Given the description of an element on the screen output the (x, y) to click on. 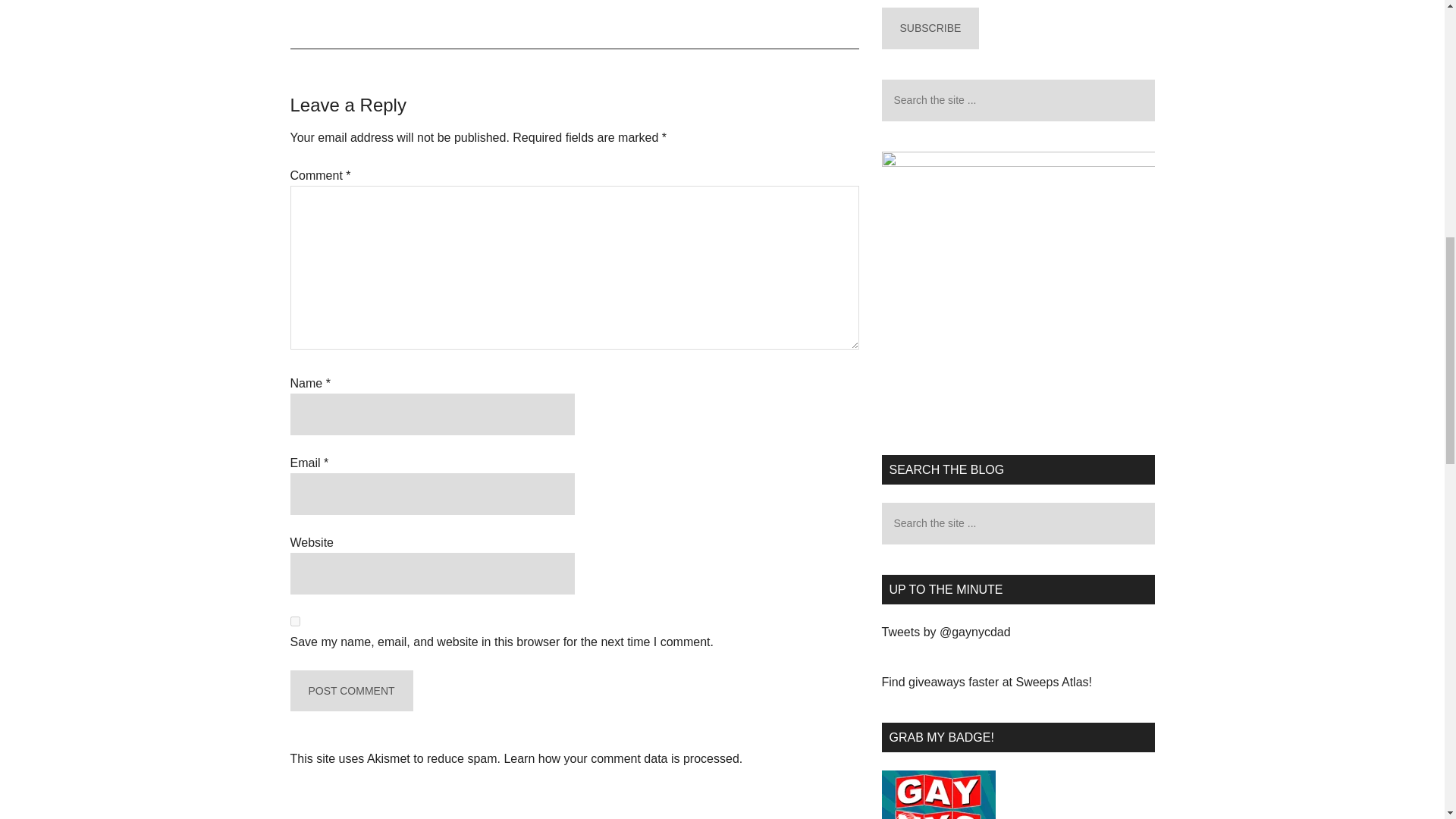
Subscribe (929, 28)
yes (294, 621)
Post Comment (350, 690)
